Given the description of an element on the screen output the (x, y) to click on. 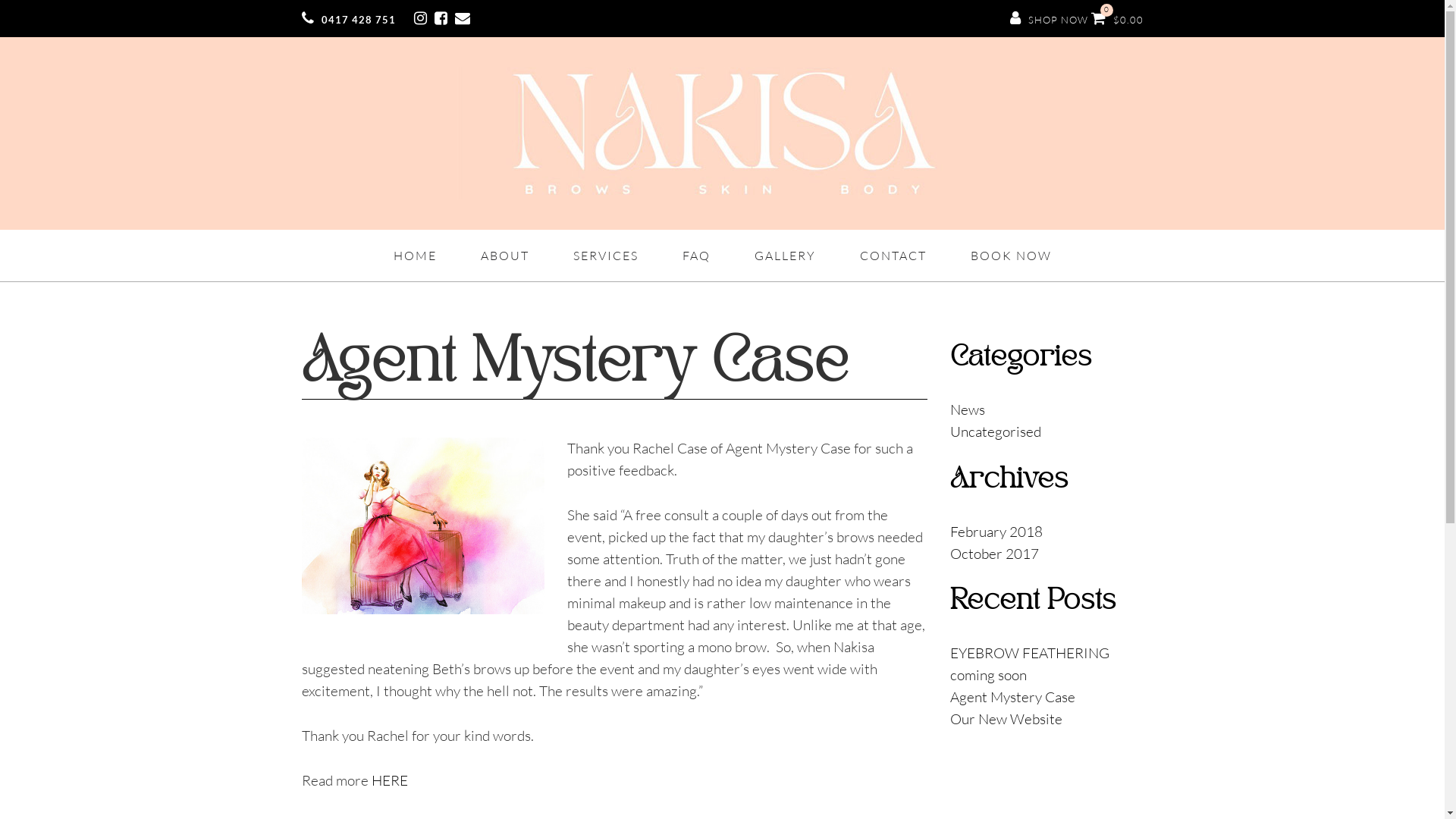
Agent Mystery Case Element type: text (1011, 696)
SHOP NOW Element type: text (1049, 19)
CONTACT Element type: text (892, 255)
Instagram Element type: hover (422, 19)
BOOK NOW Element type: text (1010, 255)
Uncategorised Element type: text (994, 431)
SERVICES Element type: text (605, 255)
February 2018 Element type: text (995, 530)
HOME Element type: text (414, 255)
October 2017 Element type: text (993, 553)
News Element type: text (966, 409)
Our New Website Element type: text (1005, 718)
0417 428 751 Element type: text (356, 19)
EYEBROW FEATHERING coming soon Element type: text (1028, 663)
GALLERY Element type: text (784, 255)
FAQ Element type: text (696, 255)
HERE Element type: text (389, 780)
ABOUT Element type: text (504, 255)
0
$0.00 Element type: text (1116, 19)
